Given the description of an element on the screen output the (x, y) to click on. 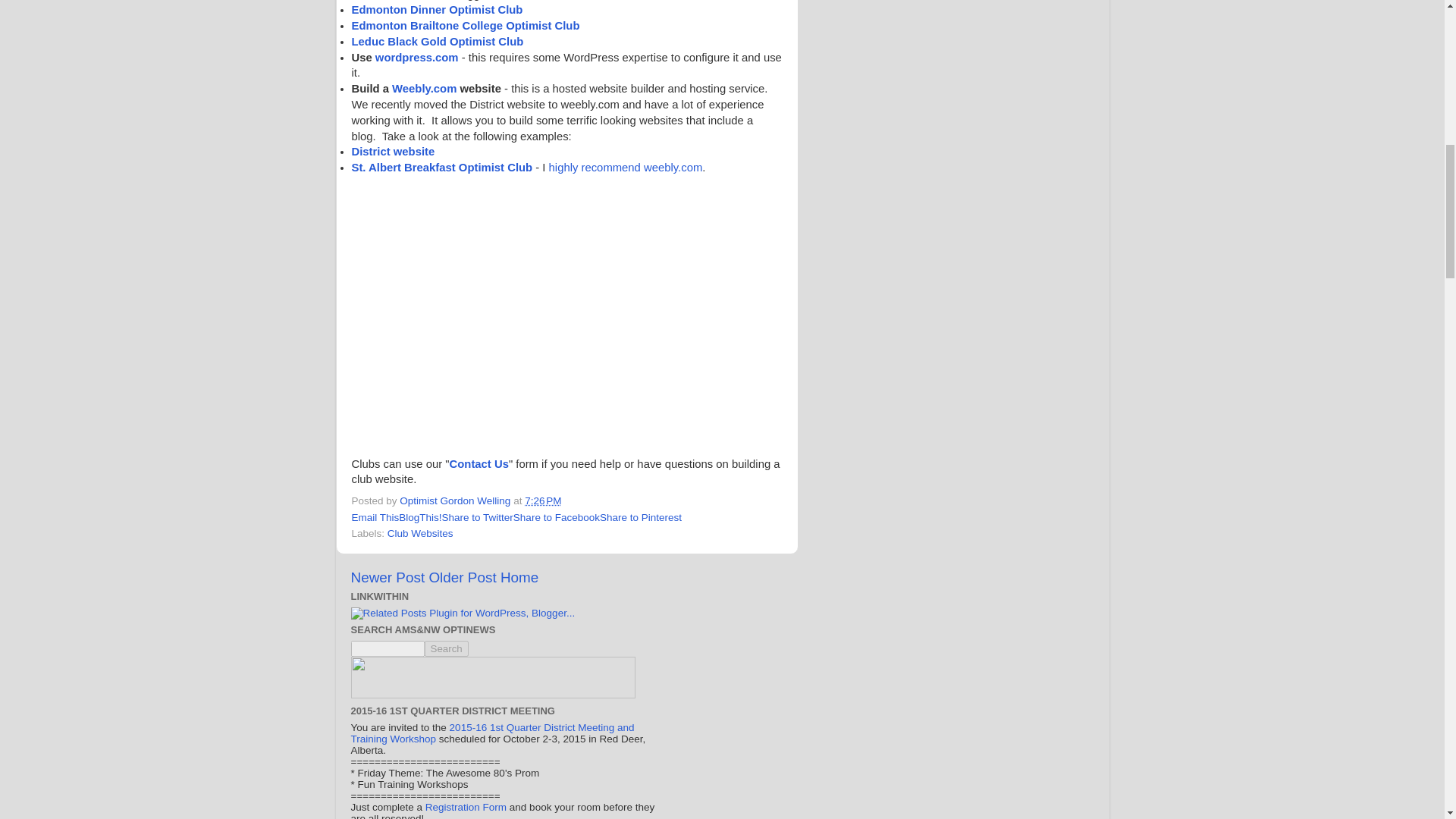
highly recommend weebly.com (625, 167)
Share to Twitter (477, 517)
District website (393, 151)
Email This (375, 517)
Optimist Gordon Welling (455, 500)
St. Albert Breakfast Optimist Club (442, 167)
Older Post (462, 577)
permanent link (542, 500)
Edmonton Dinner Optimist Club (437, 9)
Leduc Black Gold Optimist Club (438, 41)
Weebly.com (424, 88)
BlogThis! (419, 517)
Registration Form (465, 807)
Share to Facebook (556, 517)
Edmonton Brailtone College Optimist Club (465, 25)
